Given the description of an element on the screen output the (x, y) to click on. 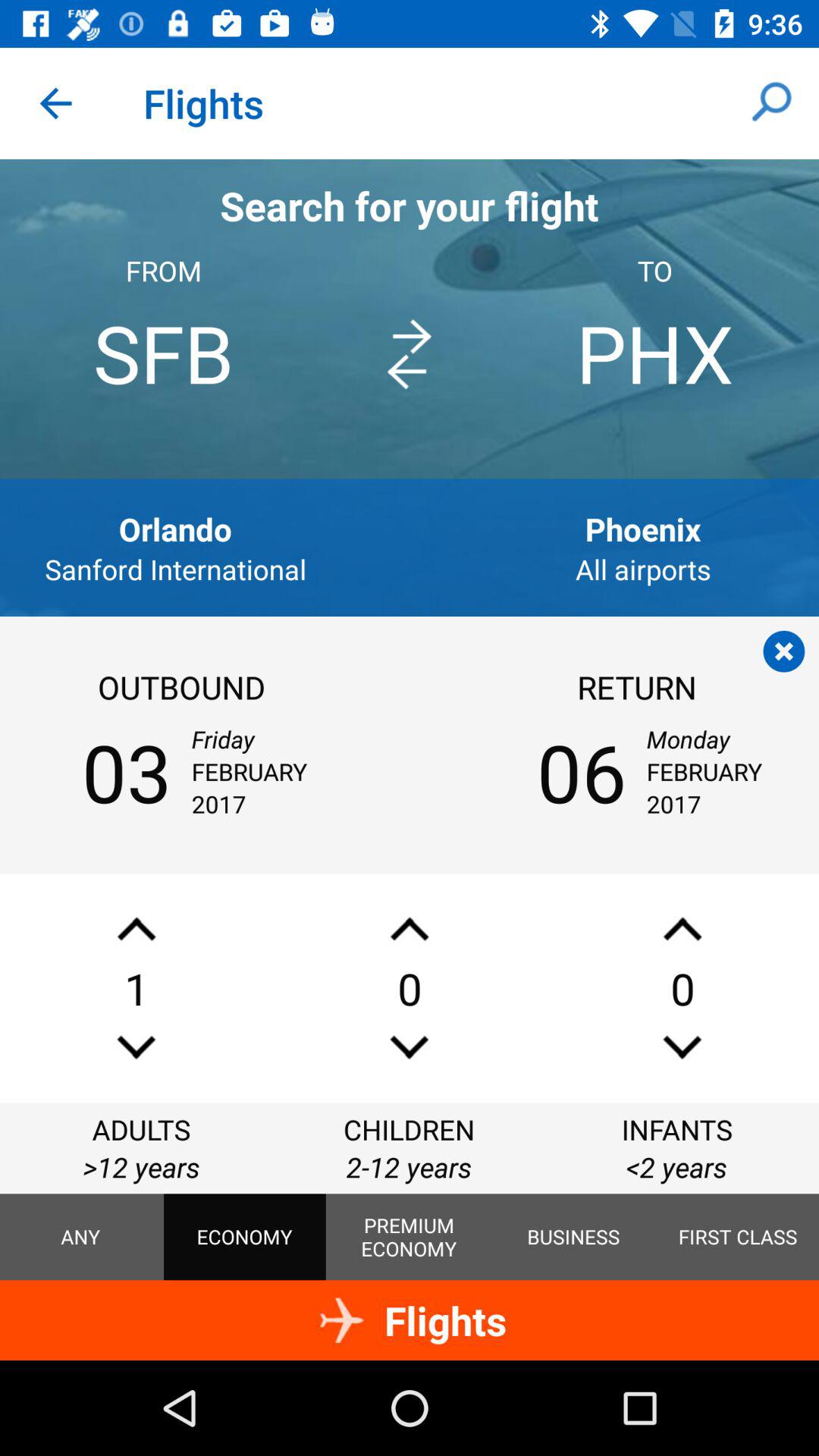
exit (784, 651)
